Given the description of an element on the screen output the (x, y) to click on. 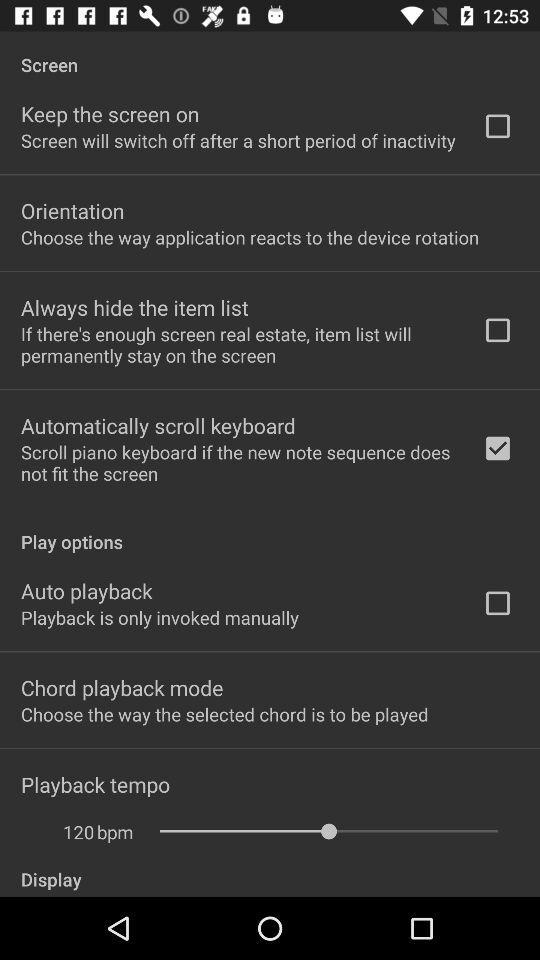
scroll to the display app (270, 868)
